Given the description of an element on the screen output the (x, y) to click on. 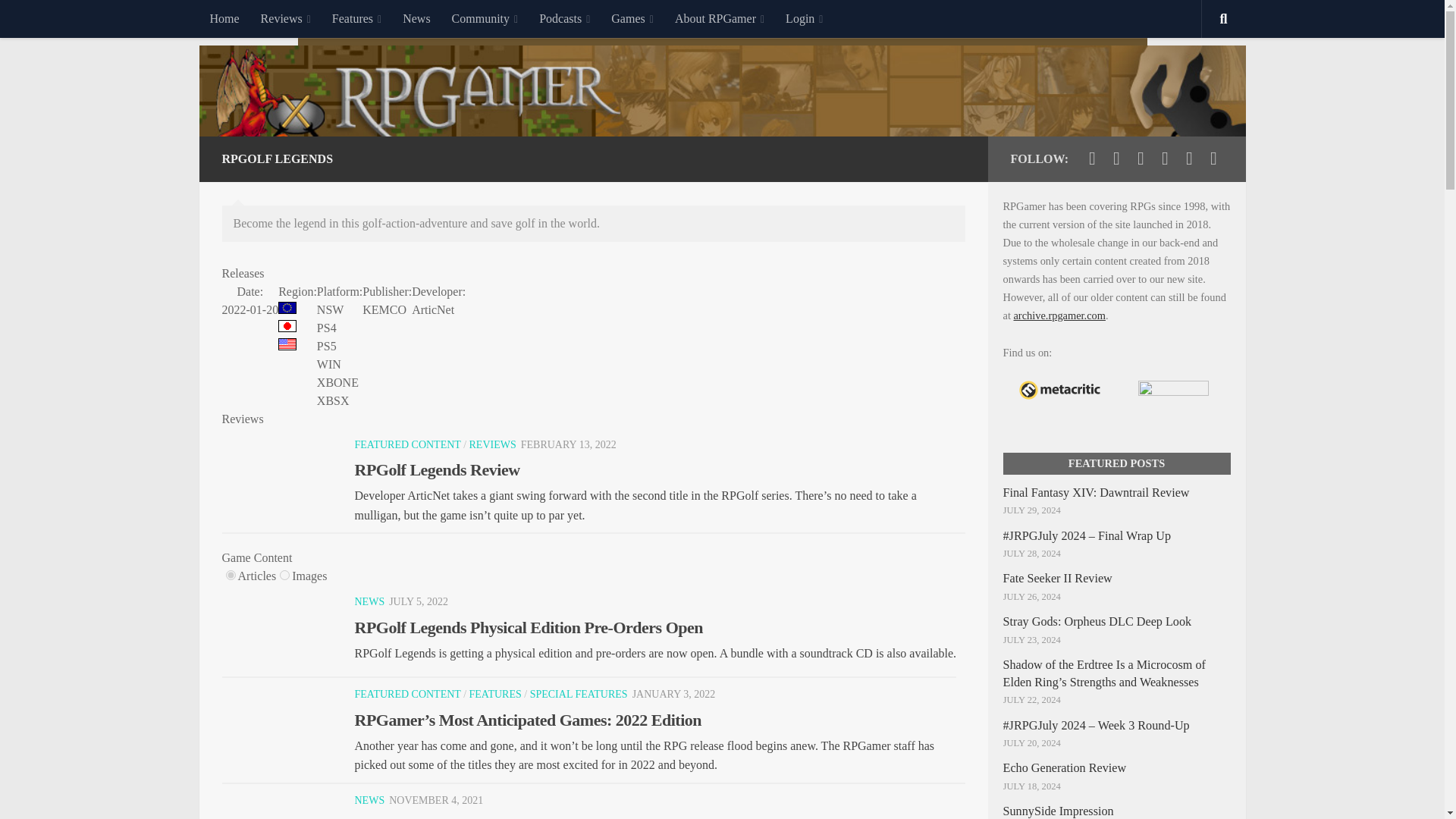
Follow us on Youtube (1140, 158)
Follow us on Rss (1213, 158)
Follow us on Discord (1188, 158)
Skip to content (59, 20)
Follow us on Twitch (1164, 158)
on (230, 574)
Follow us on Facebook (1115, 158)
on (284, 574)
Follow us on Twitter (1091, 158)
